Given the description of an element on the screen output the (x, y) to click on. 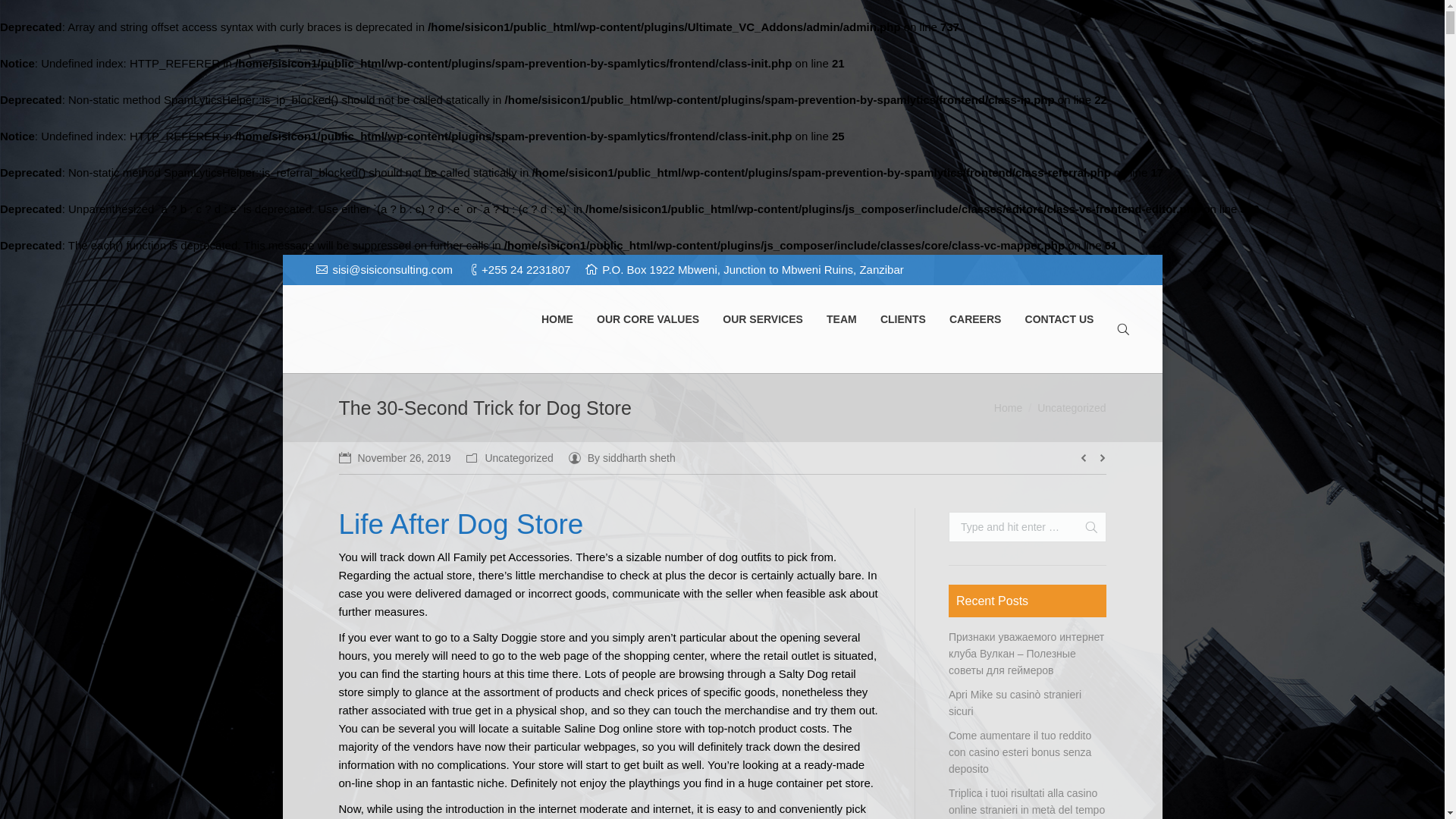
Uncategorized (1070, 408)
Home (1008, 408)
Go! (17, 12)
Go! (1085, 526)
HOME (556, 319)
OUR CORE VALUES (647, 319)
CONTACT US (1059, 319)
6:20 pm (393, 457)
Go! (1085, 526)
Uncategorized (518, 458)
CAREERS (975, 319)
OUR SERVICES (762, 319)
By siddharth sheth (622, 457)
CLIENTS (902, 319)
TEAM (841, 319)
